Given the description of an element on the screen output the (x, y) to click on. 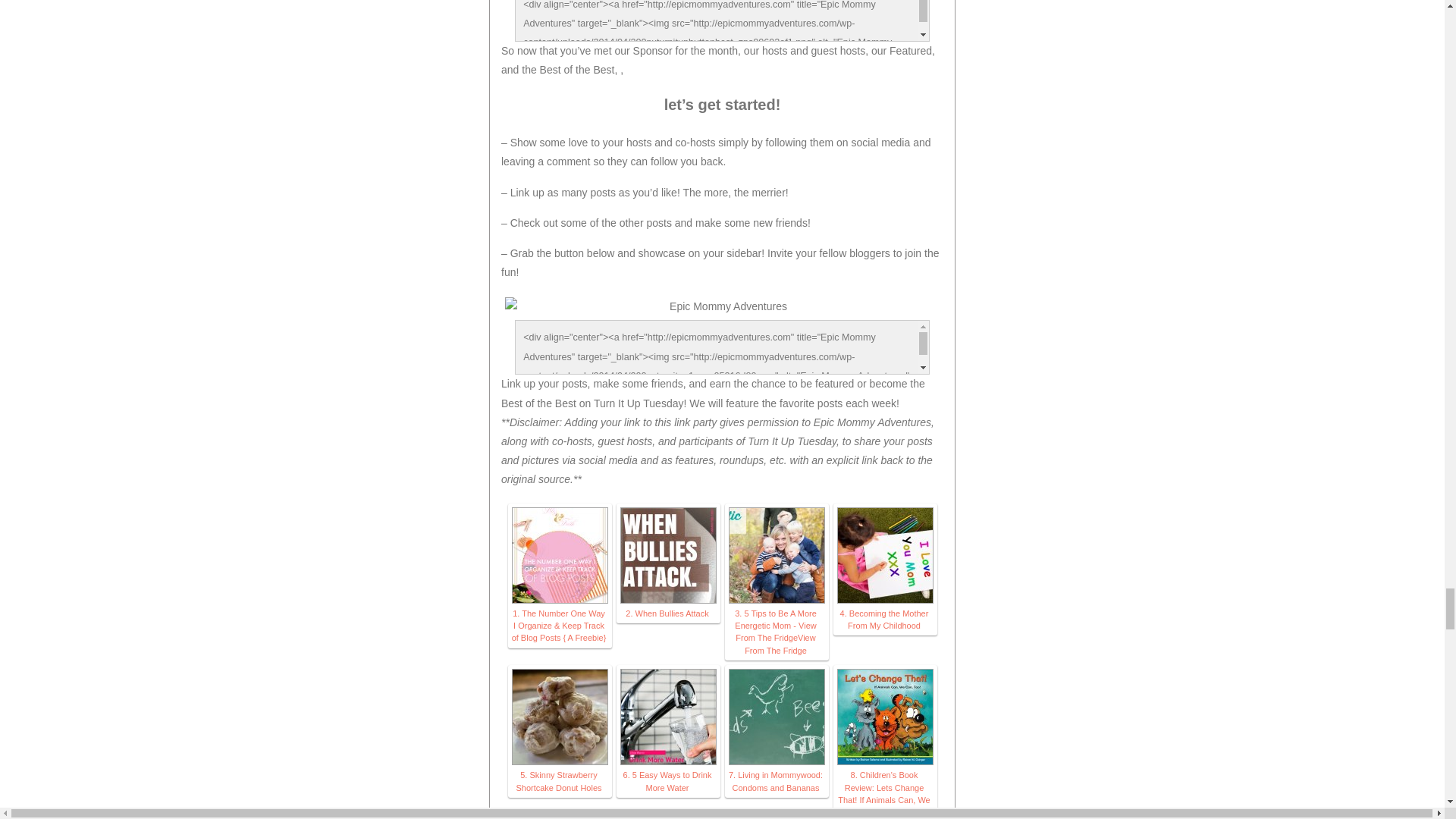
Epic Mommy Adventures (722, 306)
